Given the description of an element on the screen output the (x, y) to click on. 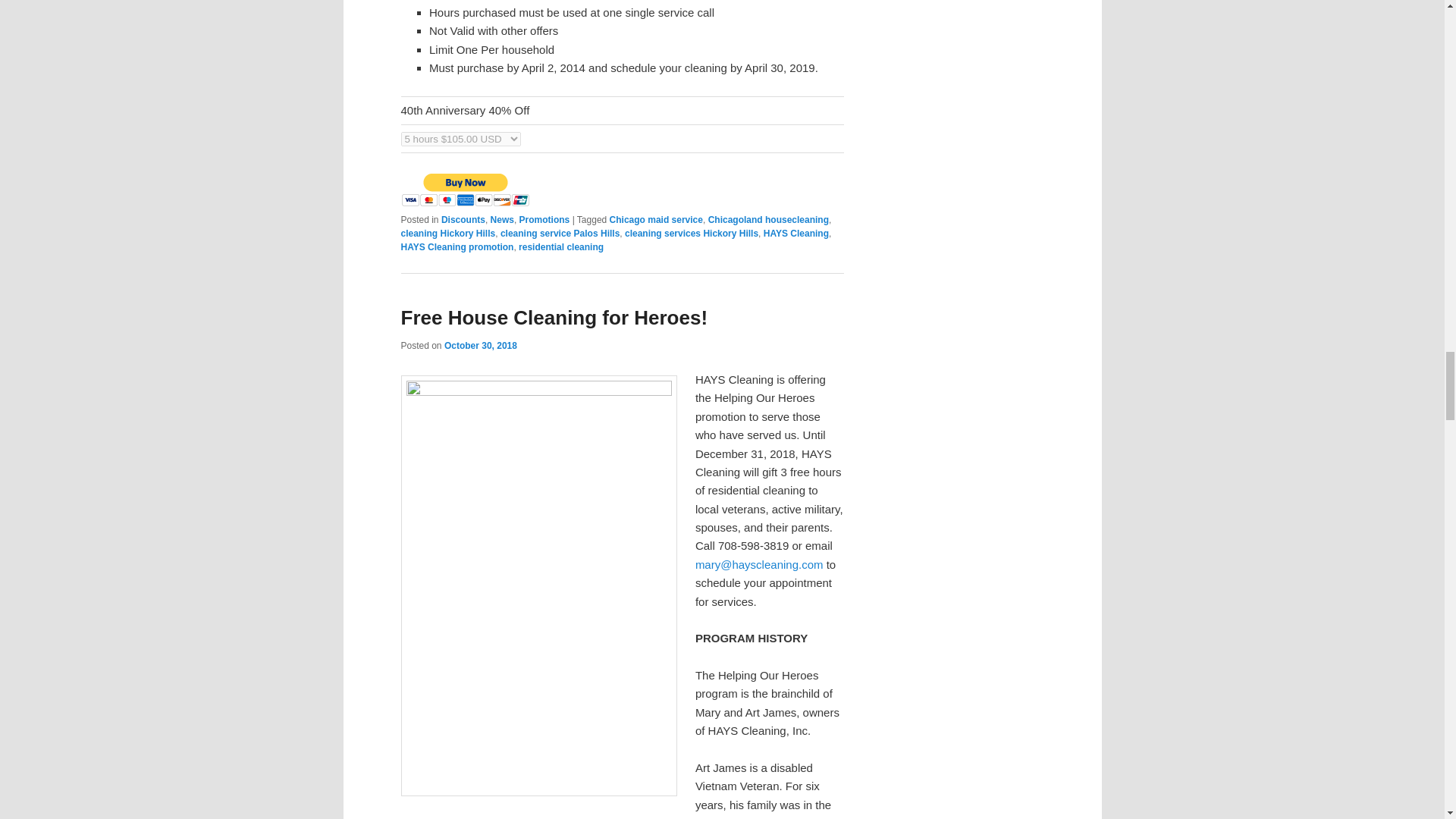
7:00 am (480, 345)
